Given the description of an element on the screen output the (x, y) to click on. 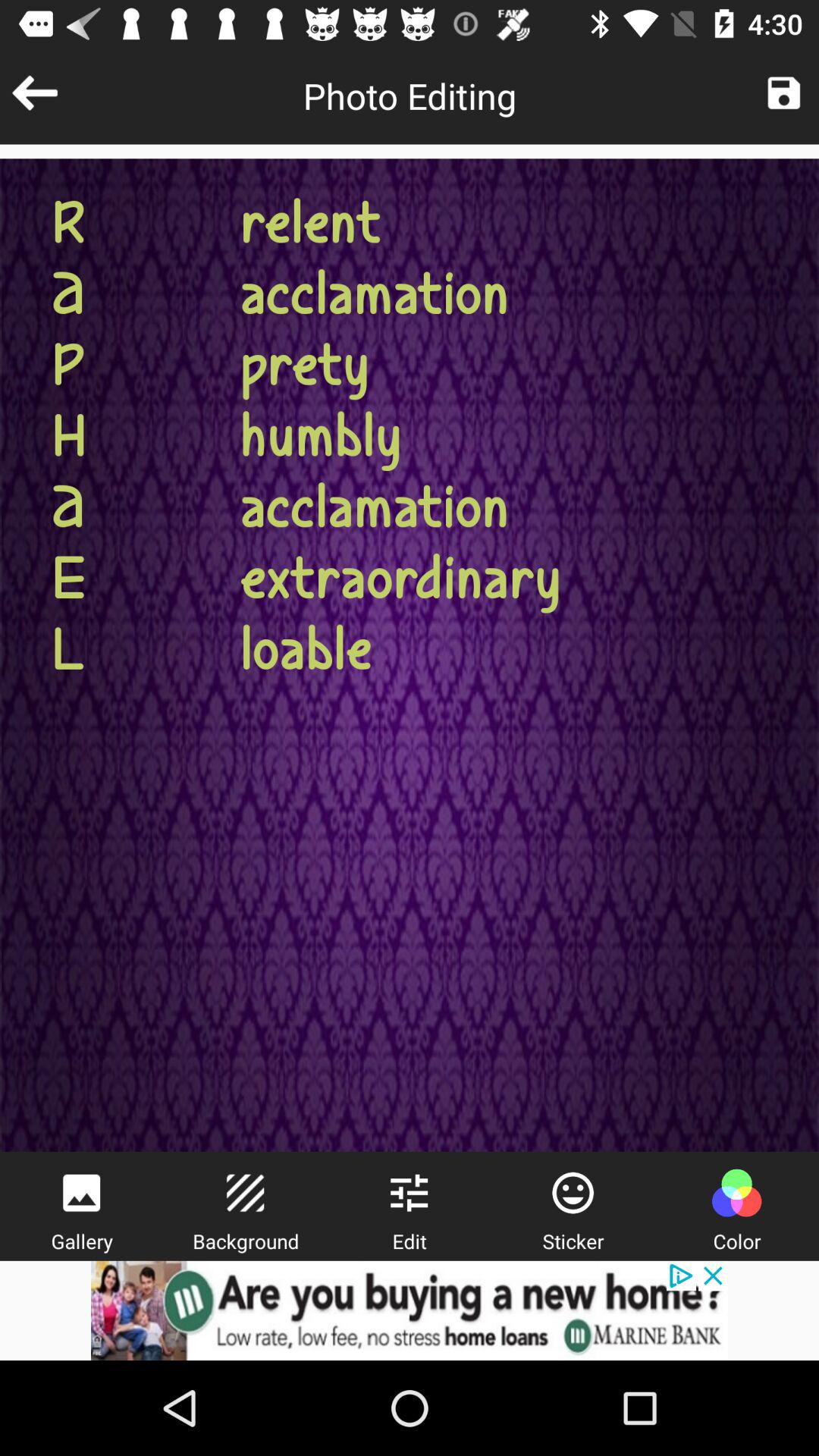
go to viewer of different photos/images (81, 1192)
